Given the description of an element on the screen output the (x, y) to click on. 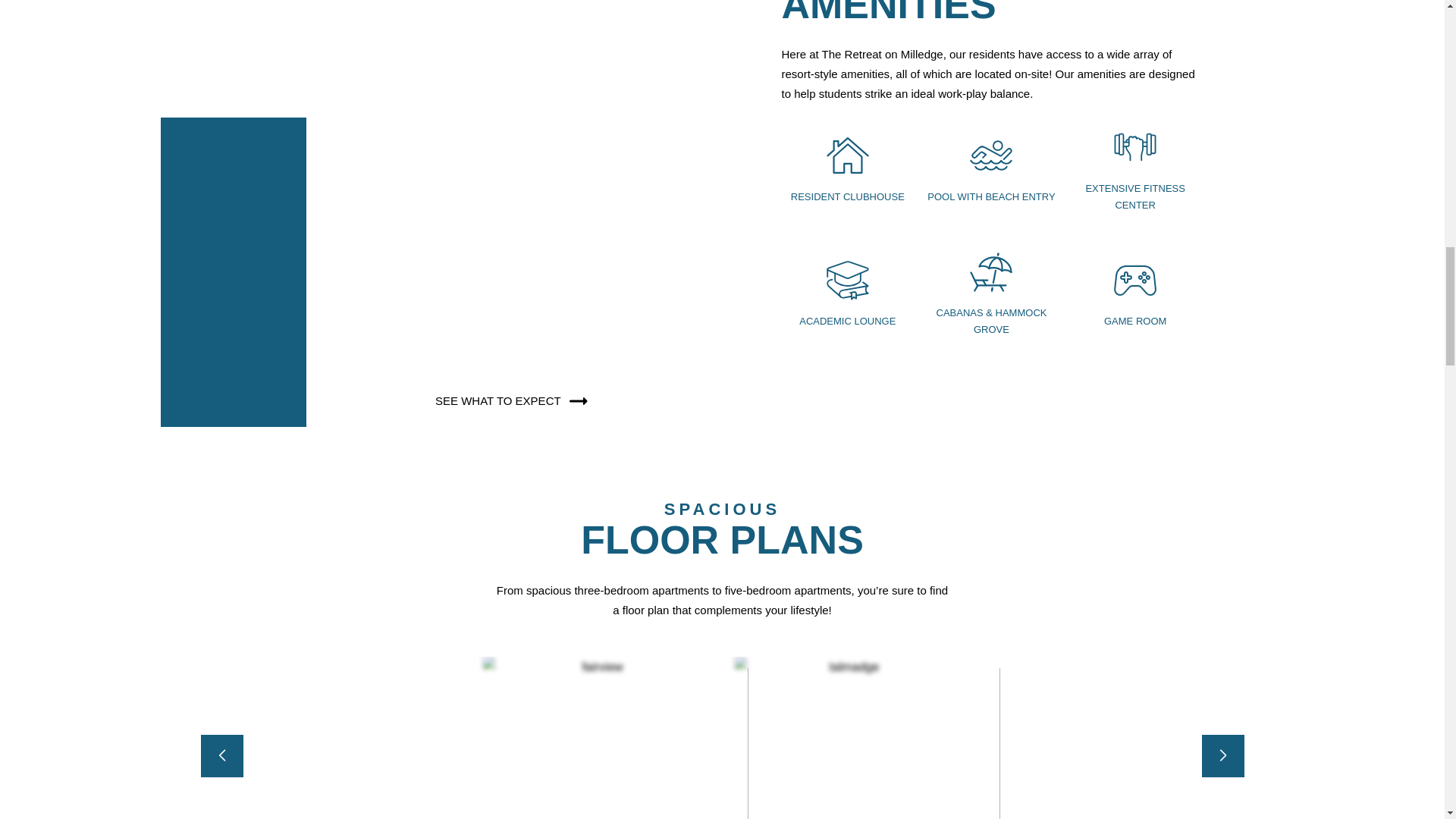
SEE WHAT TO EXPECT (513, 400)
